Given the description of an element on the screen output the (x, y) to click on. 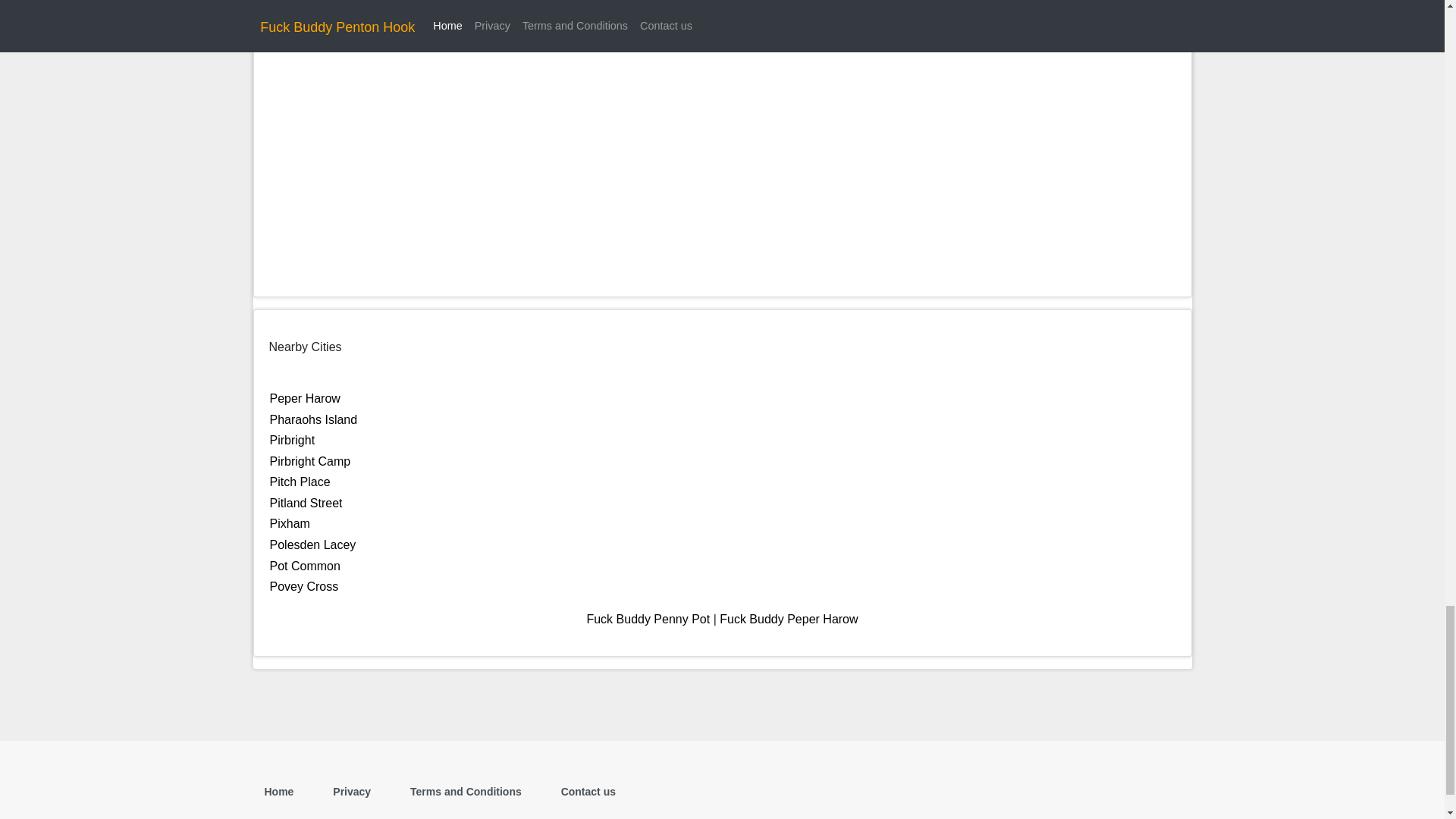
Pirbright (292, 440)
Pitland Street (305, 502)
Pirbright Camp (309, 461)
Fuck Buddy Penny Pot (648, 618)
Peper Harow (304, 398)
Pot Common (304, 565)
Povey Cross (304, 585)
Pharaohs Island (313, 419)
Polesden Lacey (312, 544)
Pitch Place (299, 481)
Fuck Buddy Peper Harow (788, 618)
Pixham (289, 522)
